Given the description of an element on the screen output the (x, y) to click on. 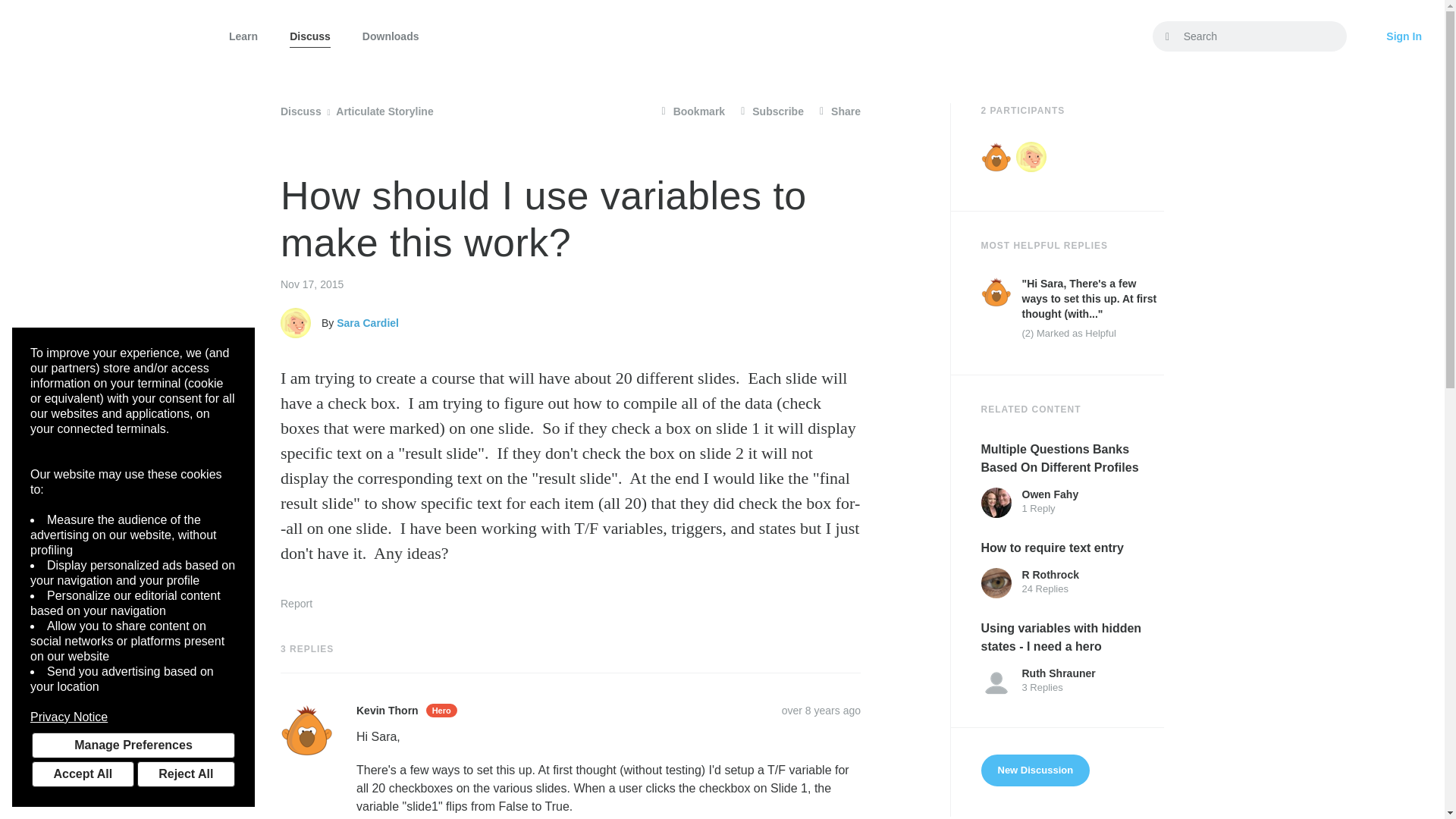
Kevin Thorn (996, 291)
Manage Preferences (133, 745)
Reject All (185, 774)
Kevin Thorn (996, 156)
Accept All (82, 774)
Copy URL to Clipboard (820, 710)
Privacy Notice (132, 717)
Sign In (1404, 36)
Owen Fahy (996, 502)
Ruth Shrauner (996, 681)
Kevin Thorn (307, 729)
Sara Cardiel (296, 322)
Sara Cardiel (1031, 156)
R Rothrock (996, 583)
E-Learning Heroes (105, 36)
